Given the description of an element on the screen output the (x, y) to click on. 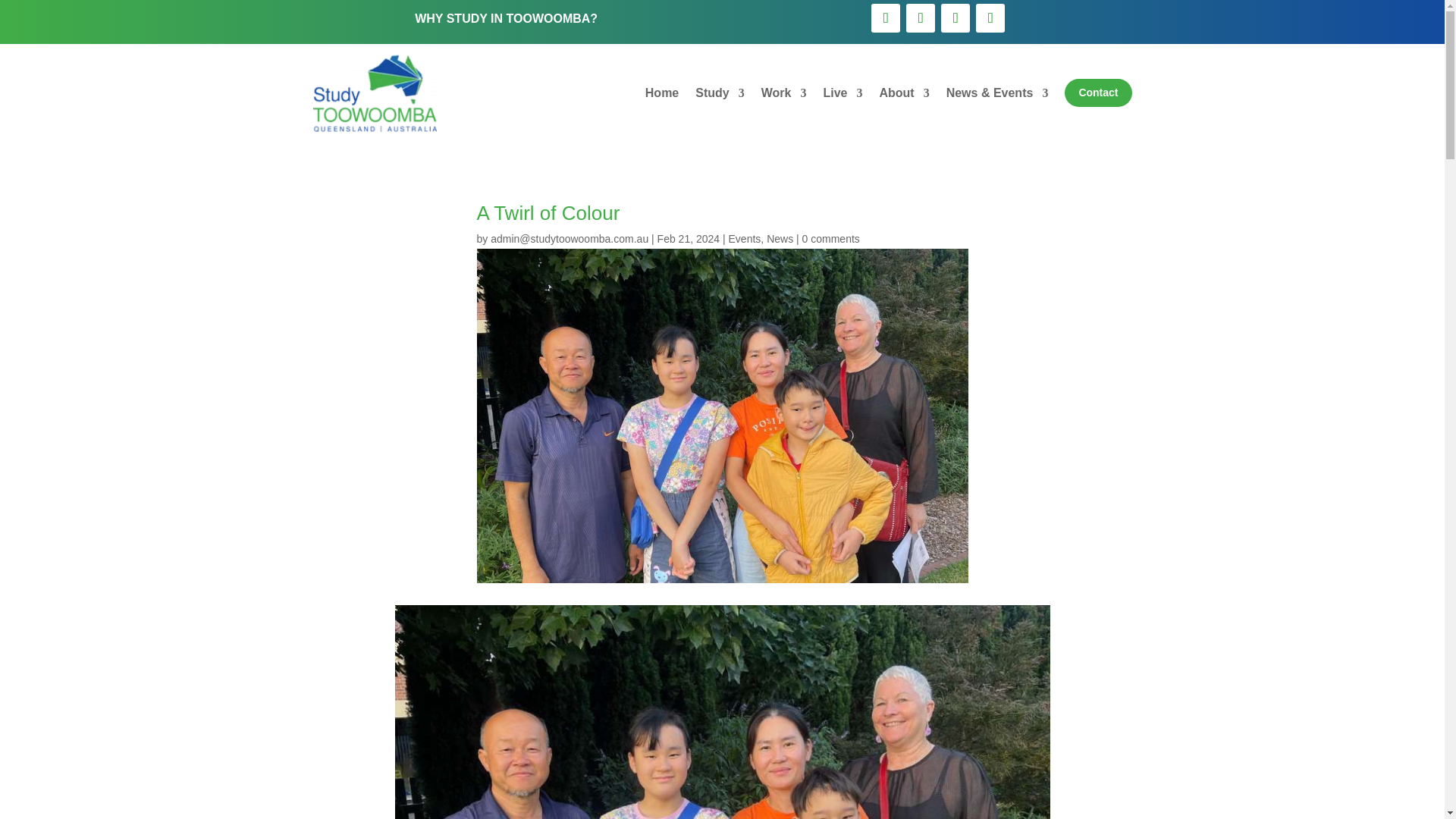
Study (719, 92)
Work (783, 92)
WHY STUDY IN TOOWOOMBA? (505, 18)
Follow on Facebook (884, 18)
Live (841, 92)
Contact (1097, 92)
Home (661, 92)
Follow on LinkedIn (954, 18)
Study Pathways (719, 92)
Follow on X (989, 18)
